Given the description of an element on the screen output the (x, y) to click on. 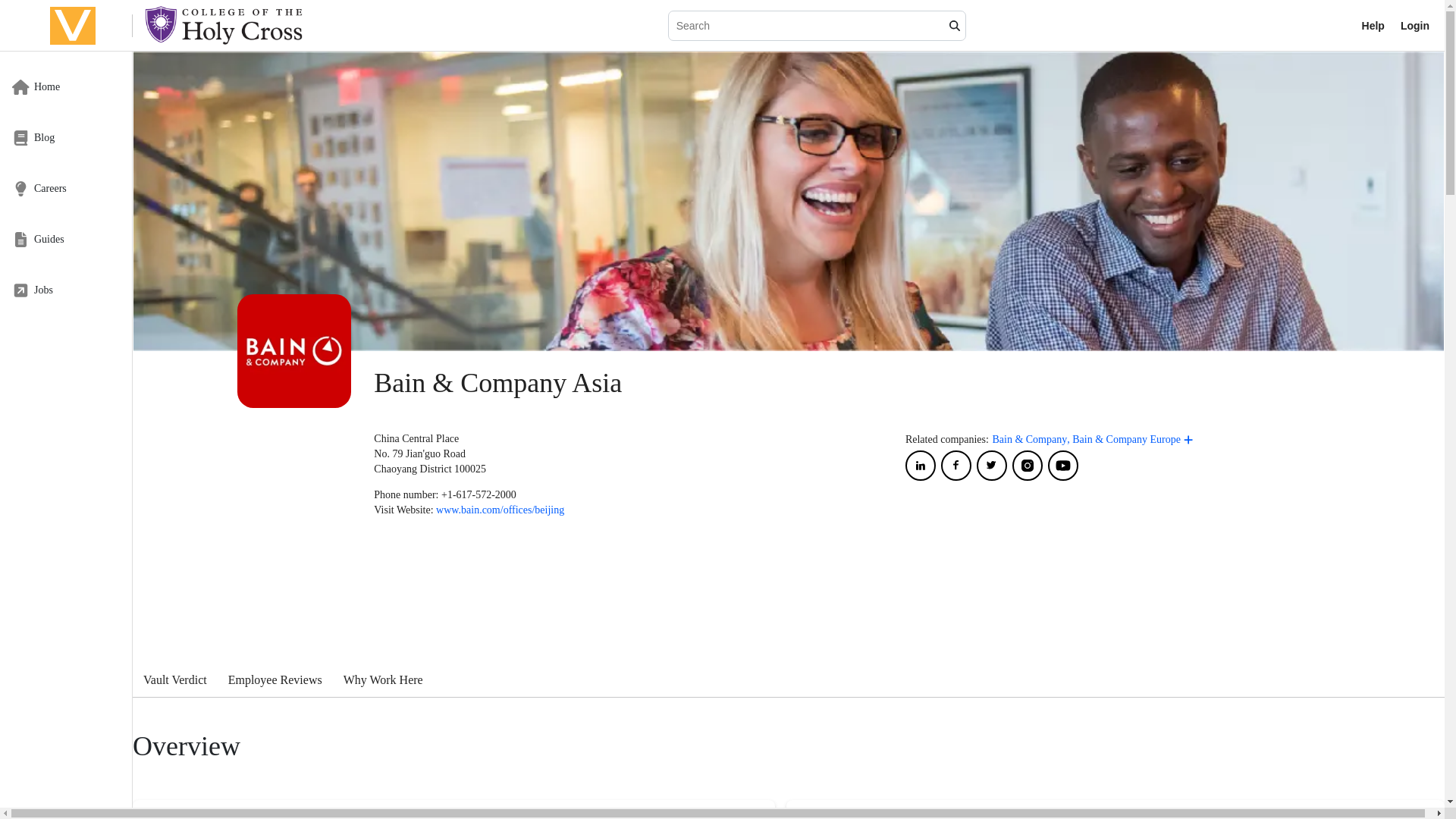
Employee Reviews (274, 681)
Skip to main content (132, 30)
Jobs (66, 289)
Why Work Here (383, 681)
Guides (66, 239)
Blog (66, 137)
Blog (788, 677)
Careers (66, 137)
Careers (66, 188)
3rd party ad content (66, 188)
Guides (788, 588)
Home (66, 239)
Vault Verdict (66, 86)
Home (174, 681)
